Given the description of an element on the screen output the (x, y) to click on. 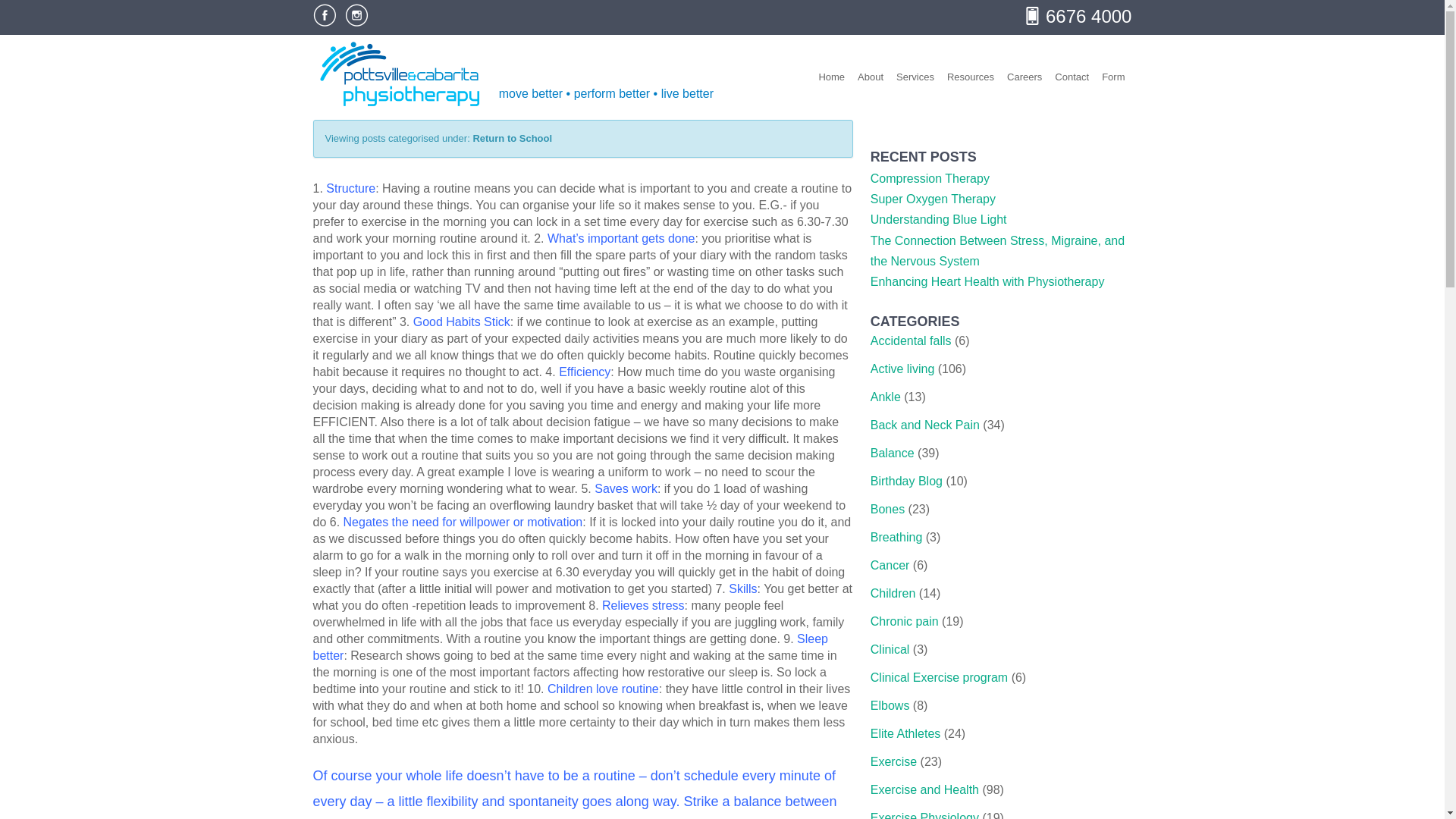
Accidental falls (911, 340)
Cancer (890, 564)
Bones (887, 508)
Birthday Blog (906, 481)
Ankle (885, 396)
Back and Neck Pain (924, 424)
Balance (892, 452)
Enhancing Heart Health with Physiotherapy (987, 281)
Children (892, 593)
